Given the description of an element on the screen output the (x, y) to click on. 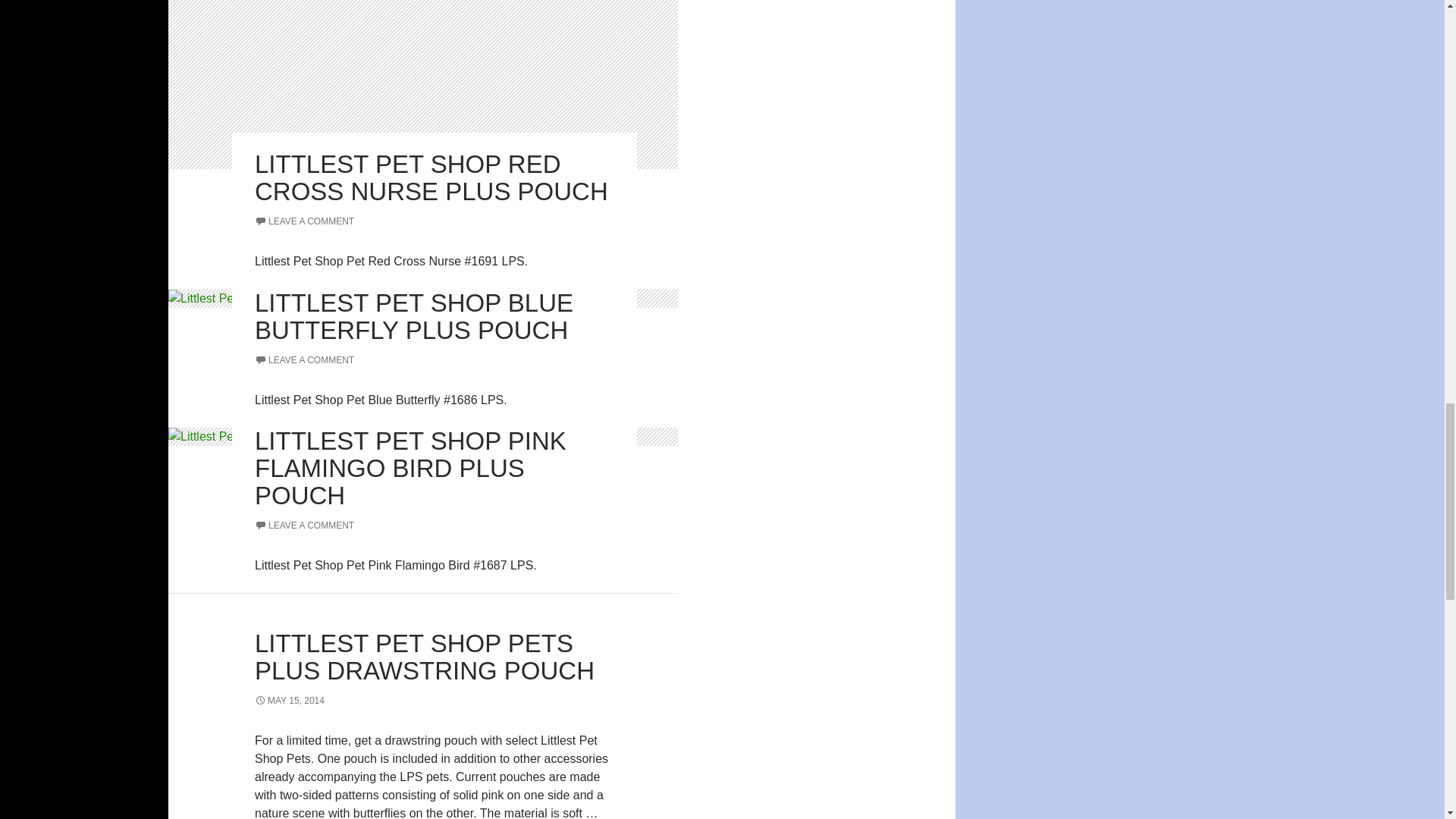
LEAVE A COMMENT (303, 221)
LITTLEST PET SHOP PETS PLUS DRAWSTRING POUCH (424, 656)
LEAVE A COMMENT (303, 525)
LEAVE A COMMENT (303, 359)
LITTLEST PET SHOP BLUE BUTTERFLY PLUS POUCH (413, 316)
LITTLEST PET SHOP RED CROSS NURSE PLUS POUCH (431, 177)
LITTLEST PET SHOP PINK FLAMINGO BIRD PLUS POUCH (410, 467)
MAY 15, 2014 (289, 700)
